Given the description of an element on the screen output the (x, y) to click on. 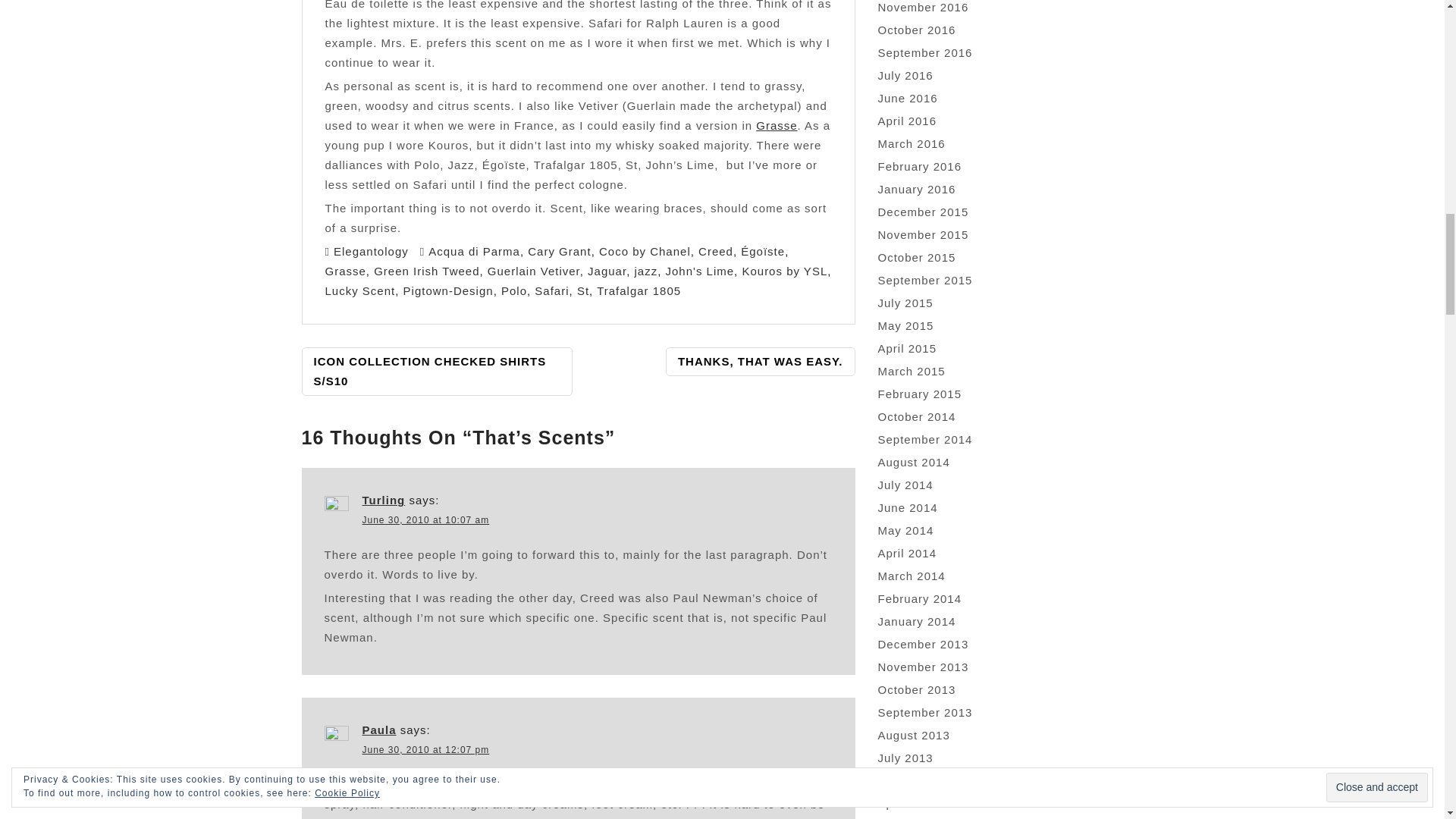
Elegantology (371, 250)
John's Lime (700, 270)
Acqua di Parma (473, 250)
Lucky Scent (359, 290)
St (582, 290)
Guerlain Vetiver (533, 270)
Polo (513, 290)
Cary Grant (559, 250)
Trafalgar 1805 (638, 290)
Green Irish Tweed (426, 270)
